Given the description of an element on the screen output the (x, y) to click on. 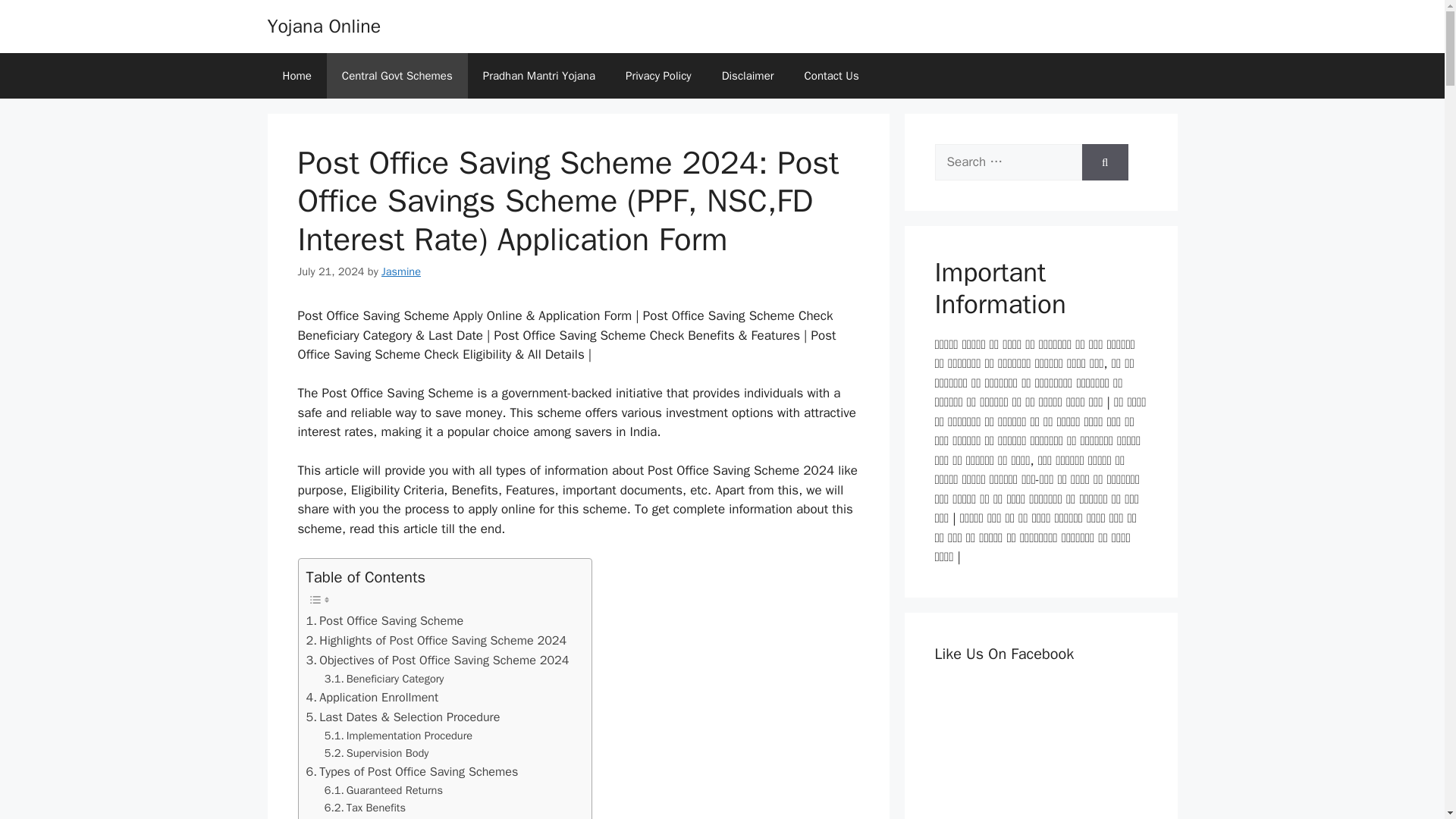
Beneficiary Category (384, 678)
Objectives of Post Office Saving Scheme 2024 (437, 660)
Yojana Online (323, 25)
Guaranteed Returns (383, 790)
Jasmine (400, 271)
Types of Post Office Saving Schemes (411, 772)
Central Govt Schemes (396, 75)
Privacy Policy (658, 75)
Implementation Procedure (397, 735)
Supervision Body (376, 753)
